Given the description of an element on the screen output the (x, y) to click on. 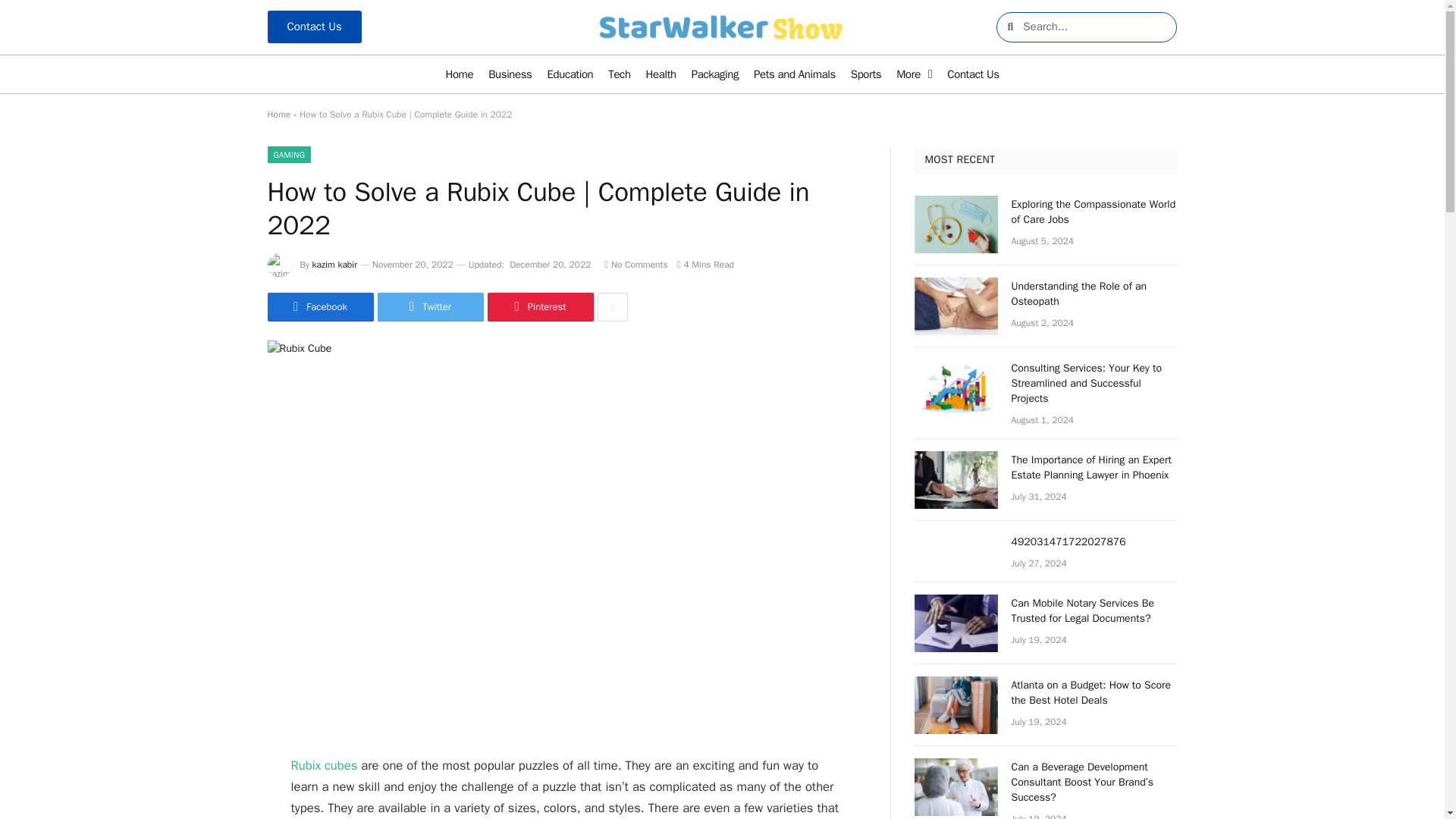
Sports (865, 74)
Pets and Animals (794, 74)
Tech (618, 74)
Share on Pinterest (539, 306)
More (913, 74)
Share on Twitter (430, 306)
Education (570, 74)
Business (509, 74)
Contact Us (972, 74)
Packaging (714, 74)
